Given the description of an element on the screen output the (x, y) to click on. 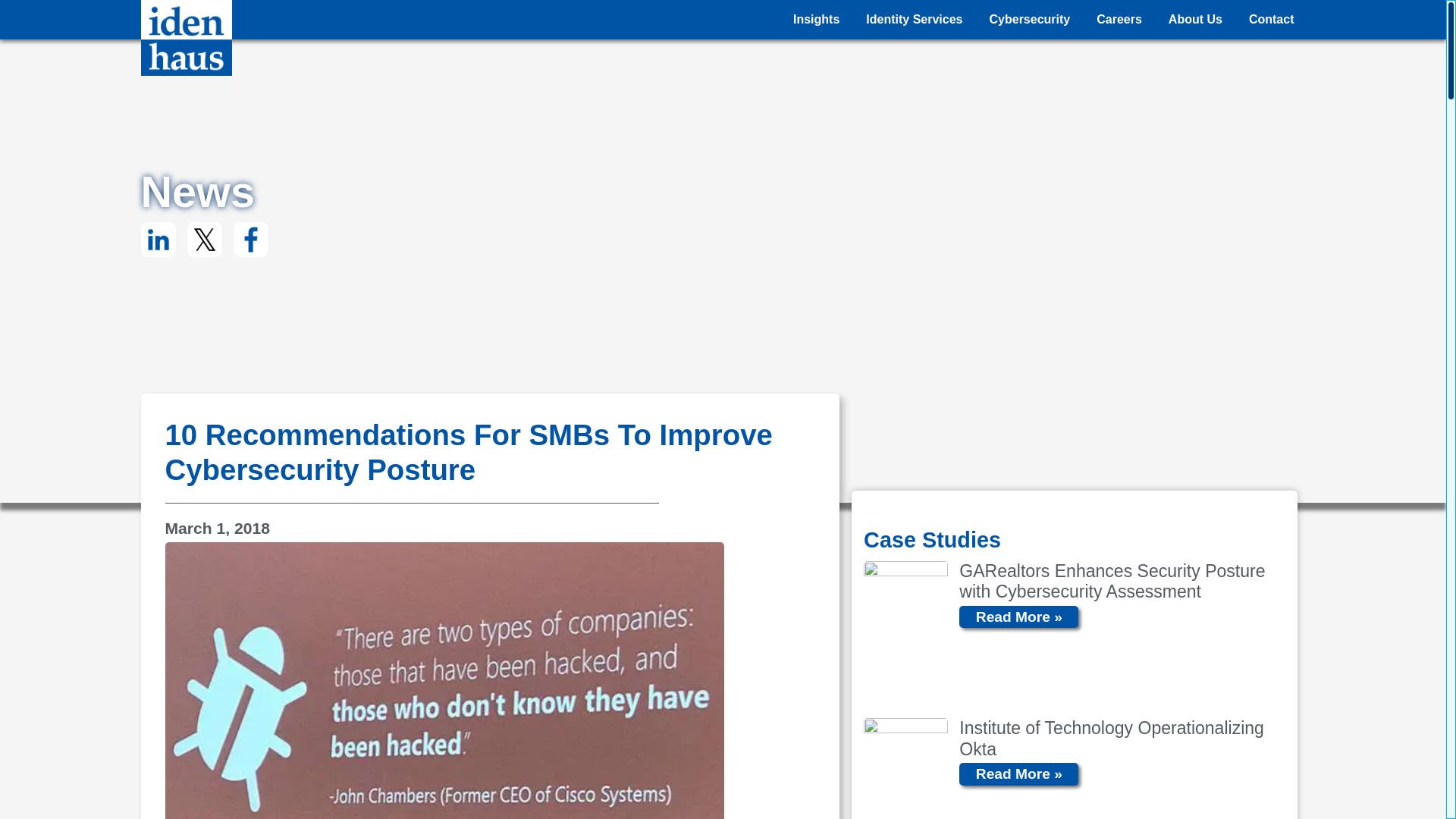
Cybersecurity (1029, 19)
Insights (815, 19)
Identity Services (914, 19)
Contact (1271, 19)
About Us (1195, 19)
Careers (1118, 19)
